Given the description of an element on the screen output the (x, y) to click on. 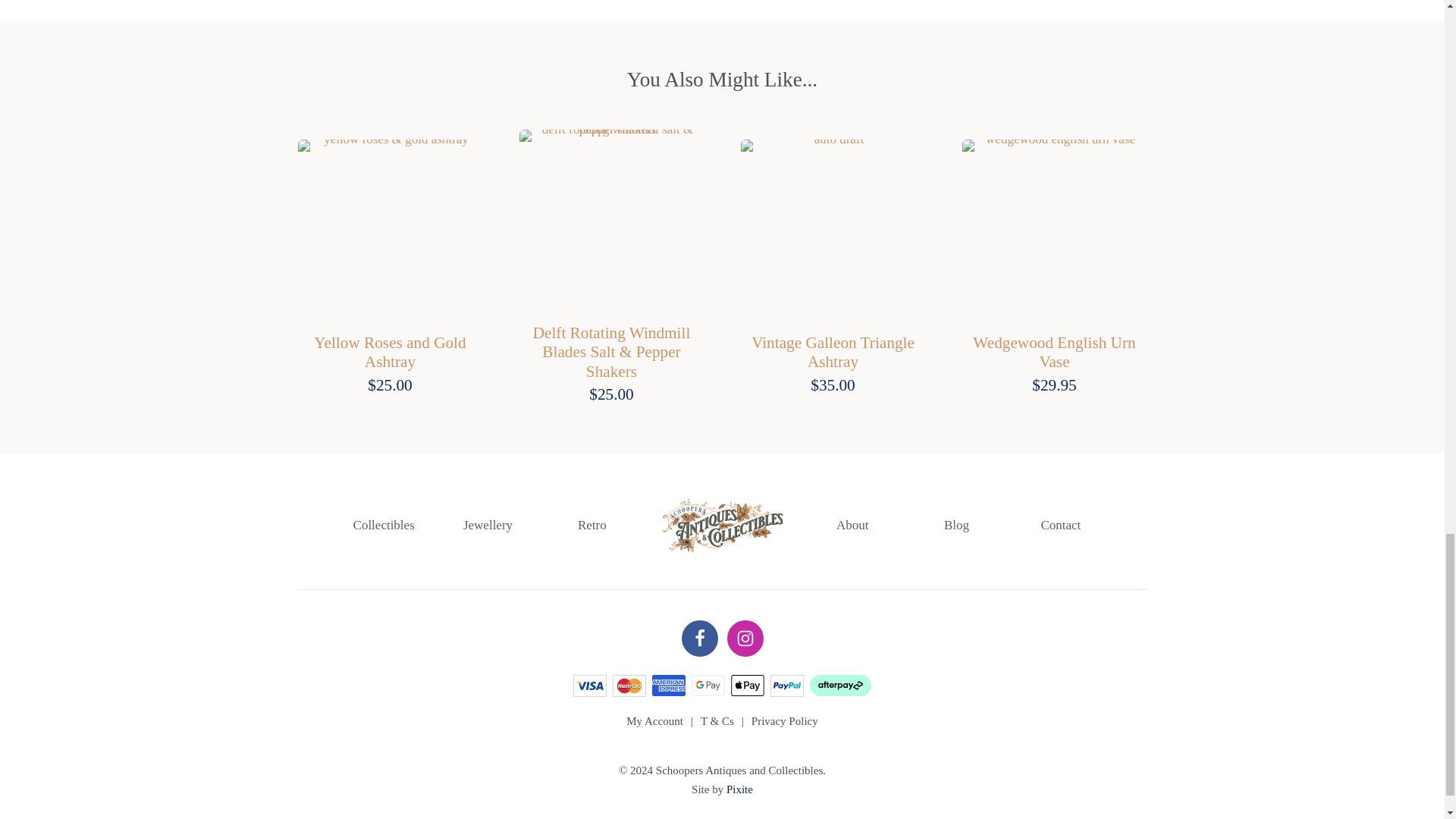
About (852, 525)
Contact (1060, 525)
Jewellery (487, 525)
Collectibles (383, 525)
Blog (956, 525)
My Account (654, 720)
Privacy Policy (784, 720)
Pixite (739, 788)
Retro (592, 525)
